Given the description of an element on the screen output the (x, y) to click on. 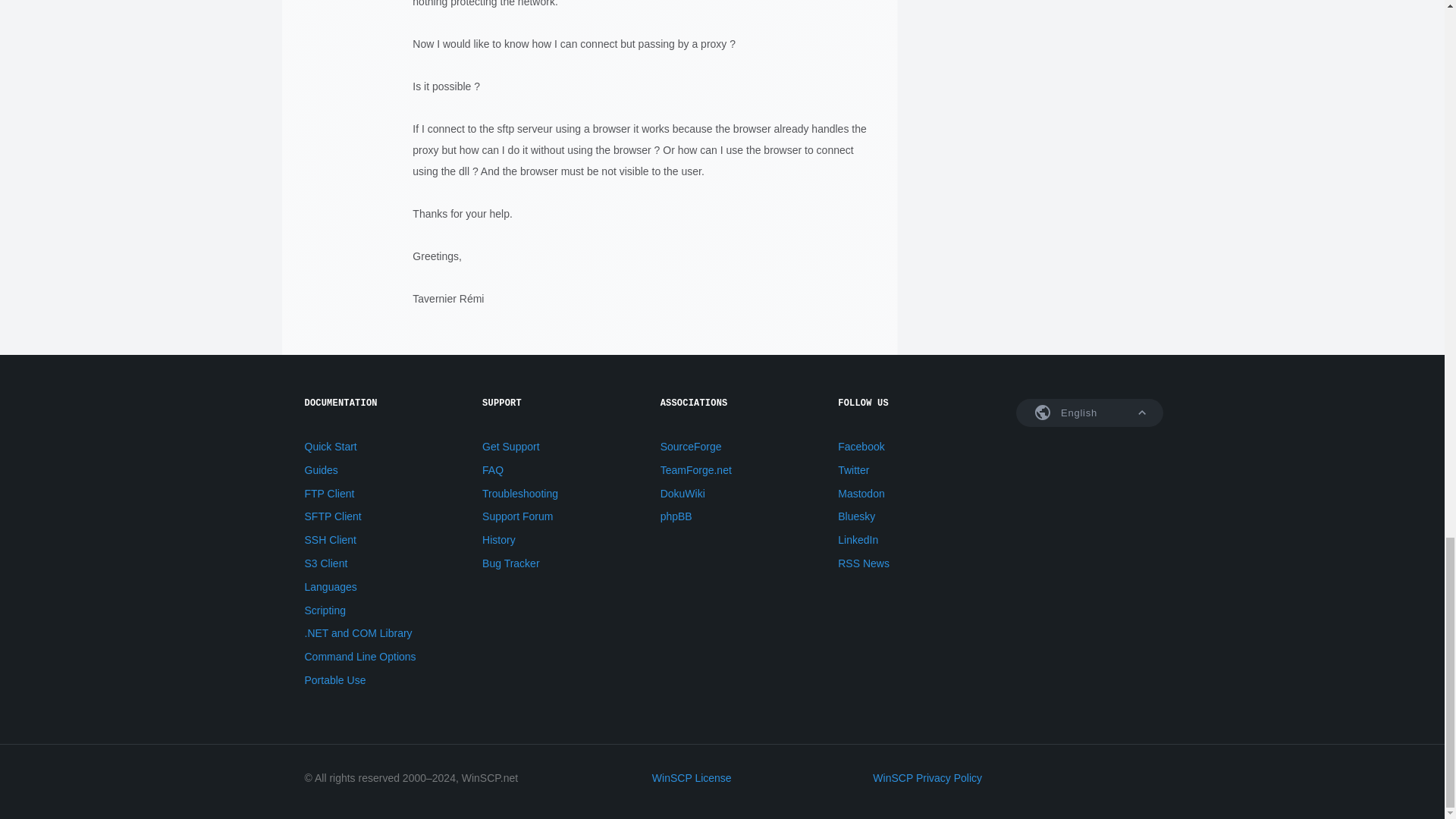
English (1089, 412)
